Given the description of an element on the screen output the (x, y) to click on. 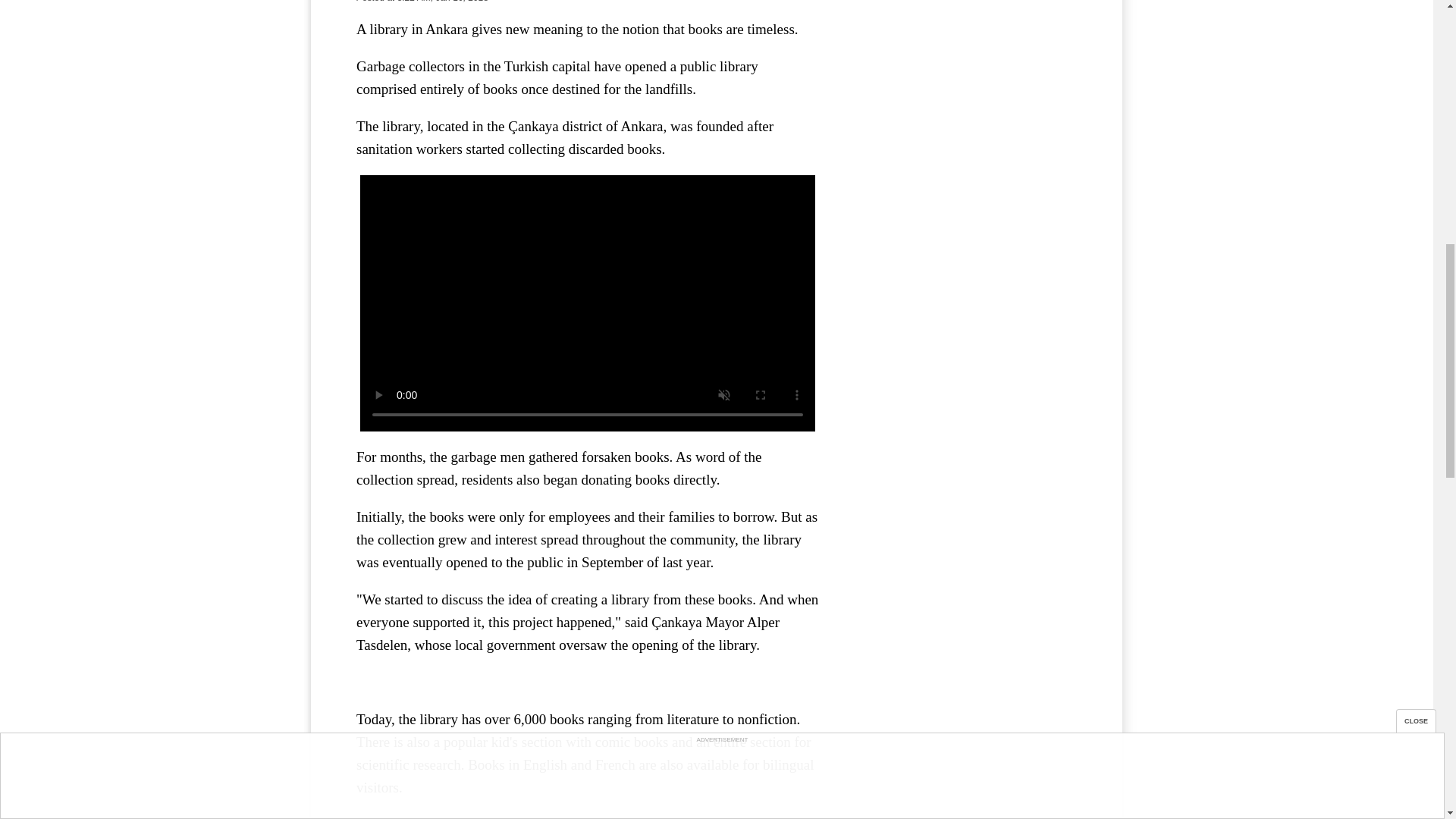
3rd party ad content (962, 207)
